Given the description of an element on the screen output the (x, y) to click on. 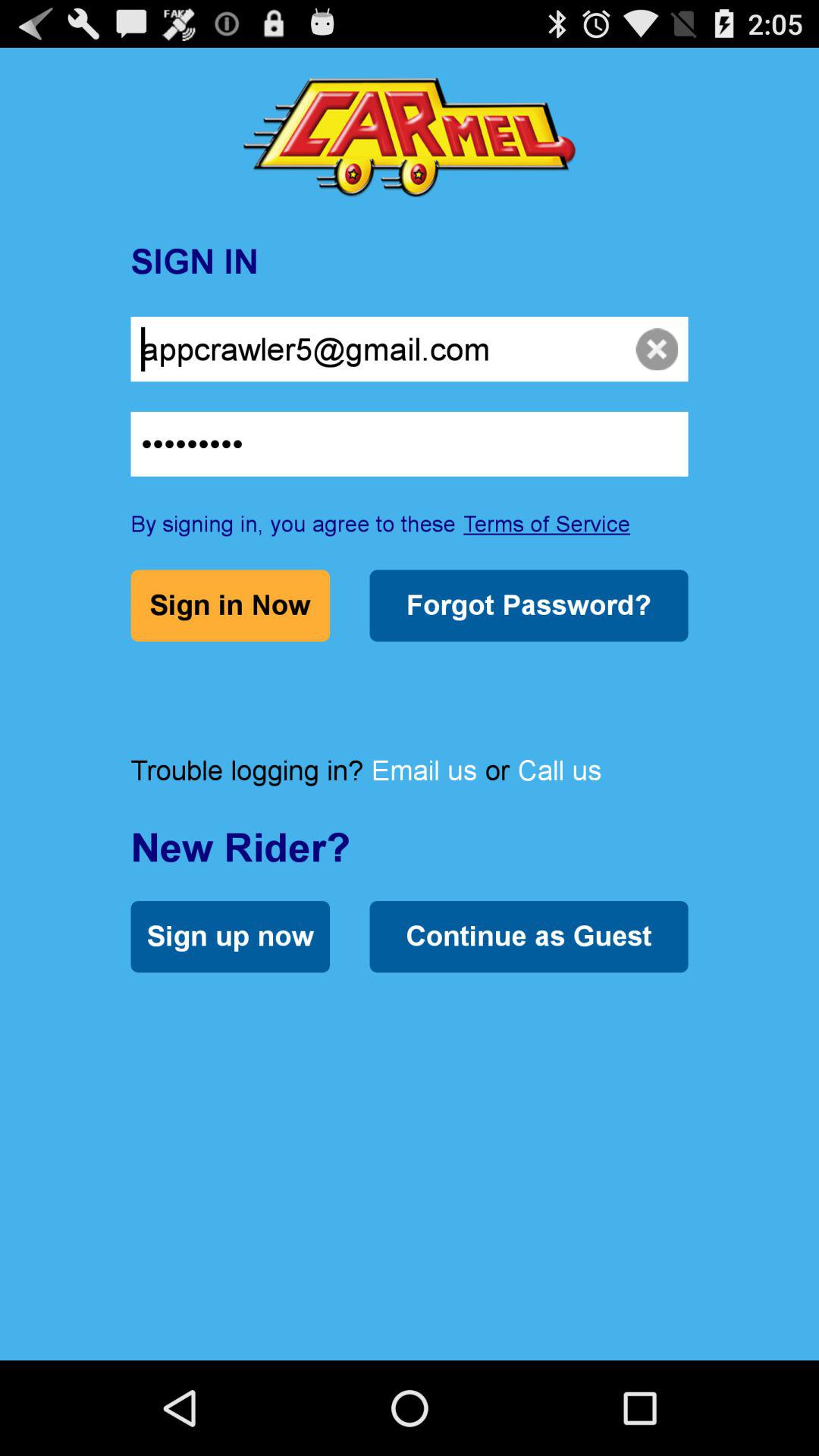
launch the item above the forgot password? item (546, 523)
